Given the description of an element on the screen output the (x, y) to click on. 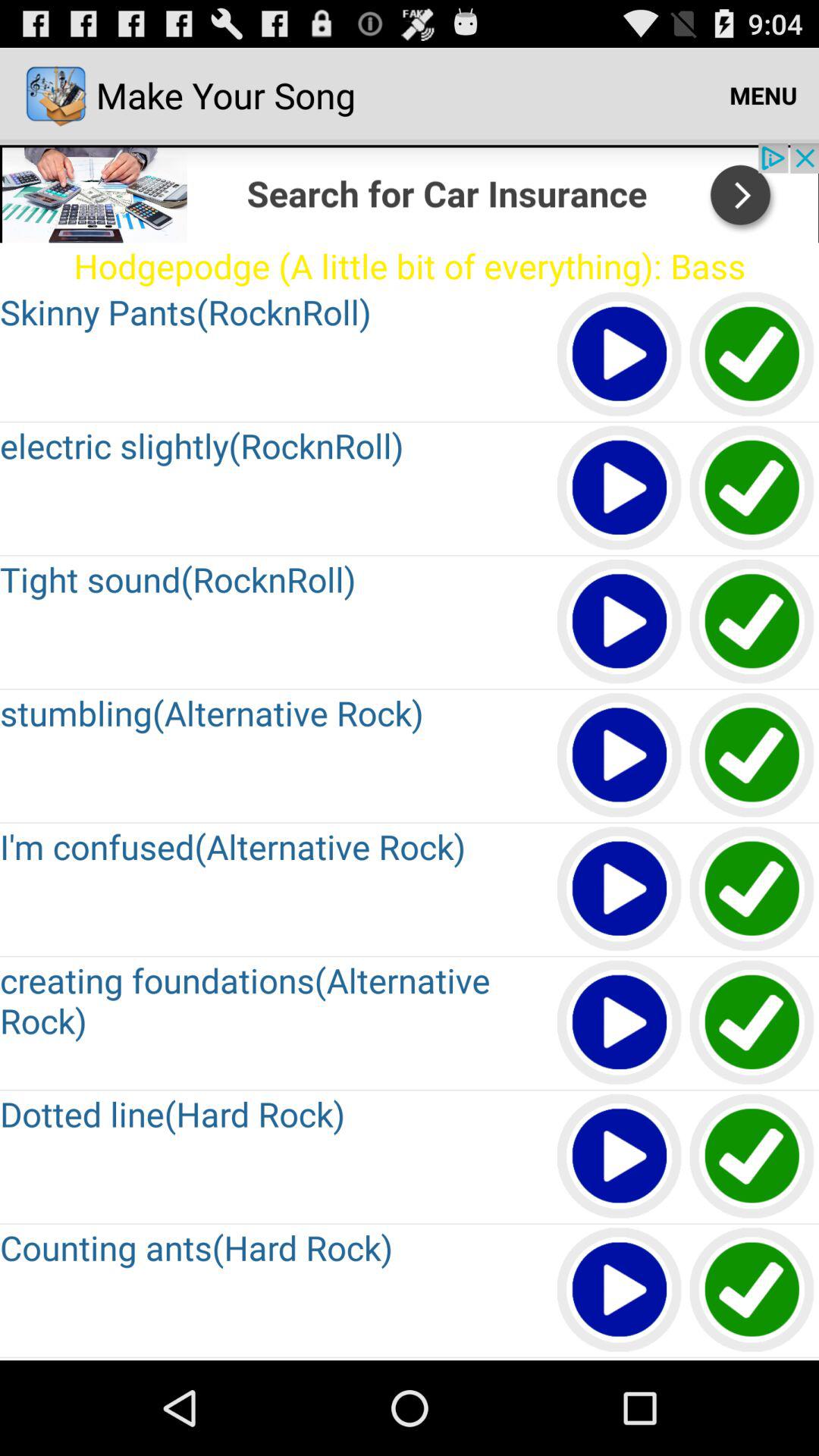
toggle autoplay option (619, 1156)
